Given the description of an element on the screen output the (x, y) to click on. 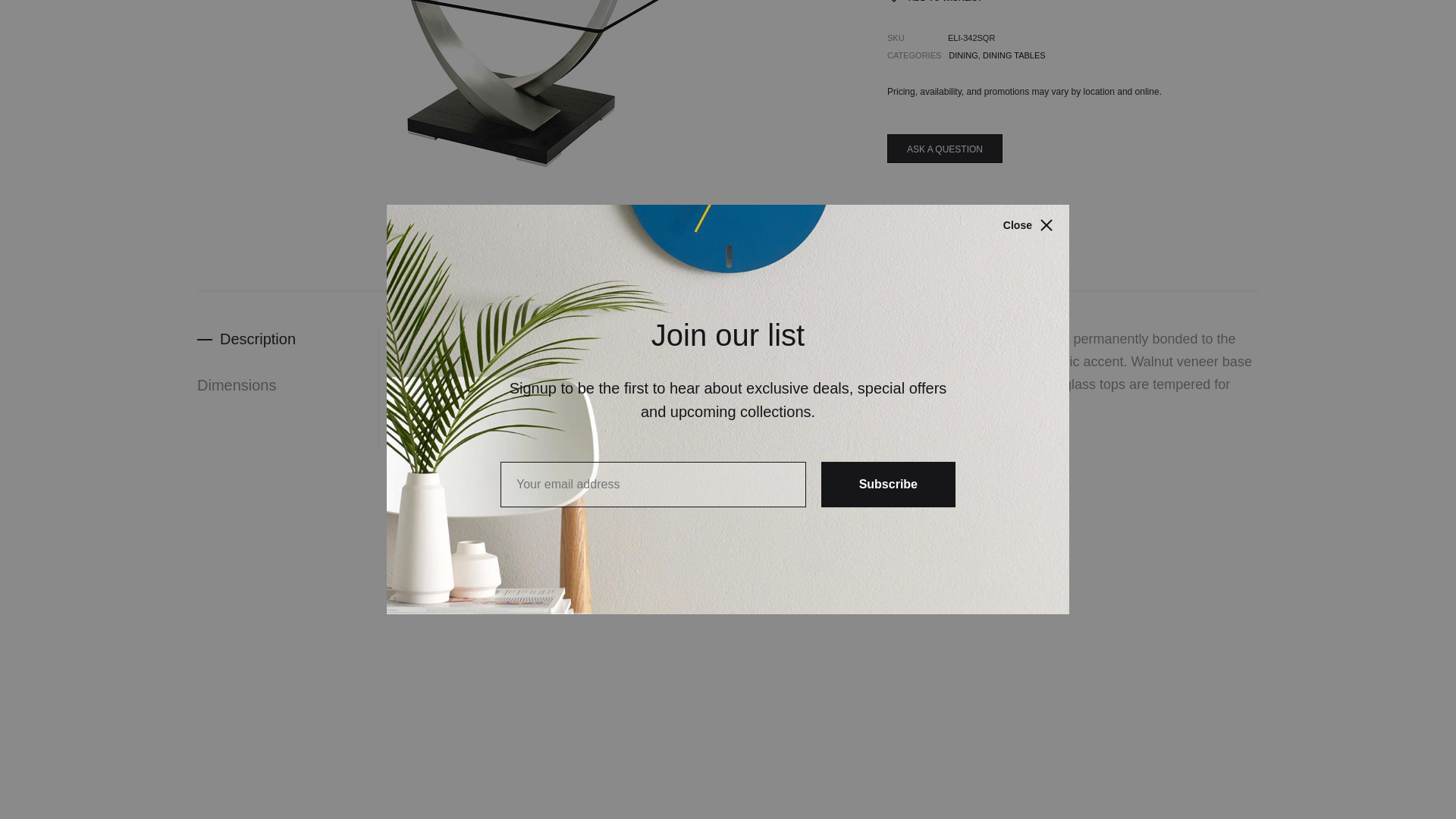
Subscribe (888, 167)
